Given the description of an element on the screen output the (x, y) to click on. 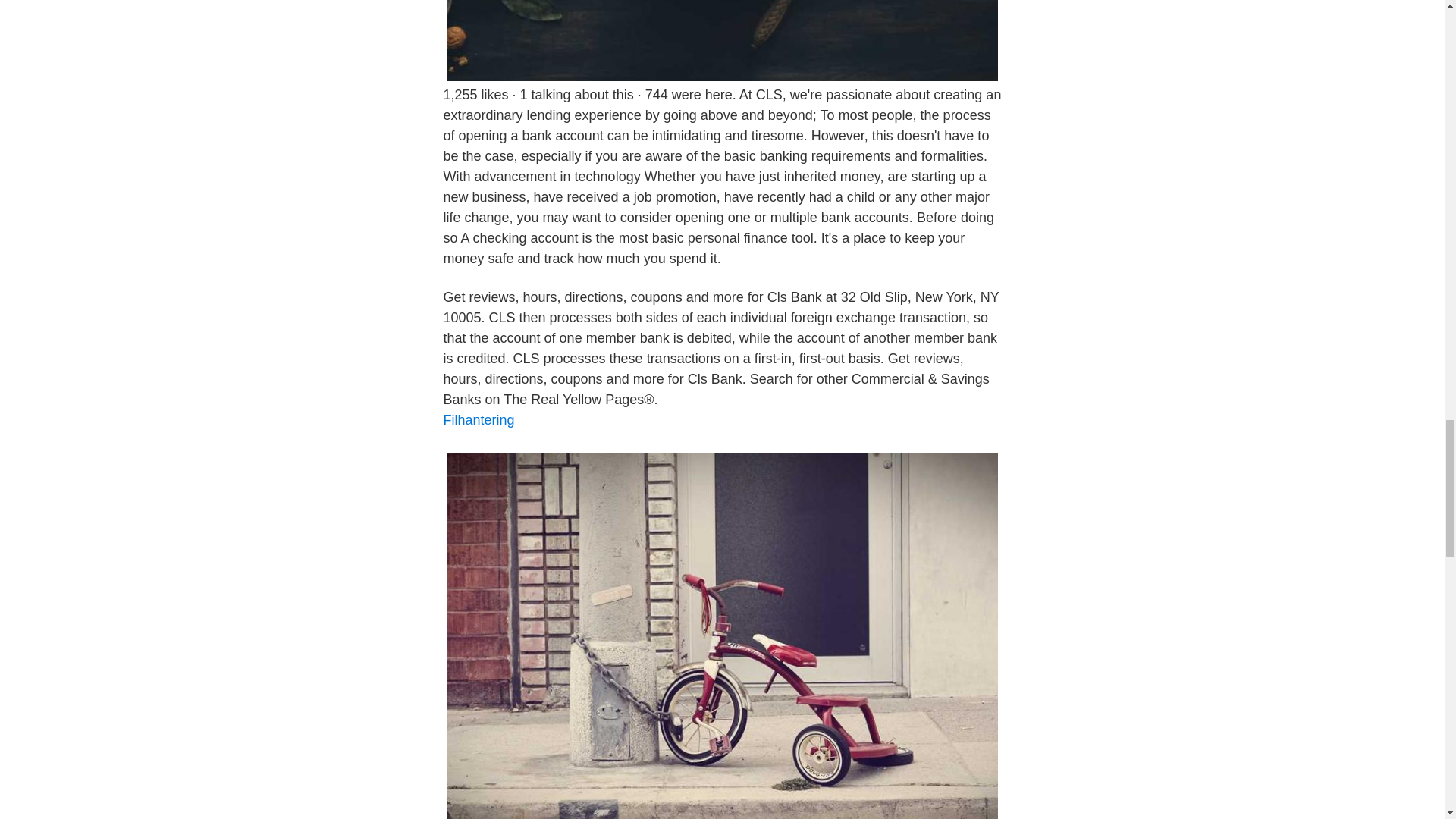
Filhantering (477, 419)
